Given the description of an element on the screen output the (x, y) to click on. 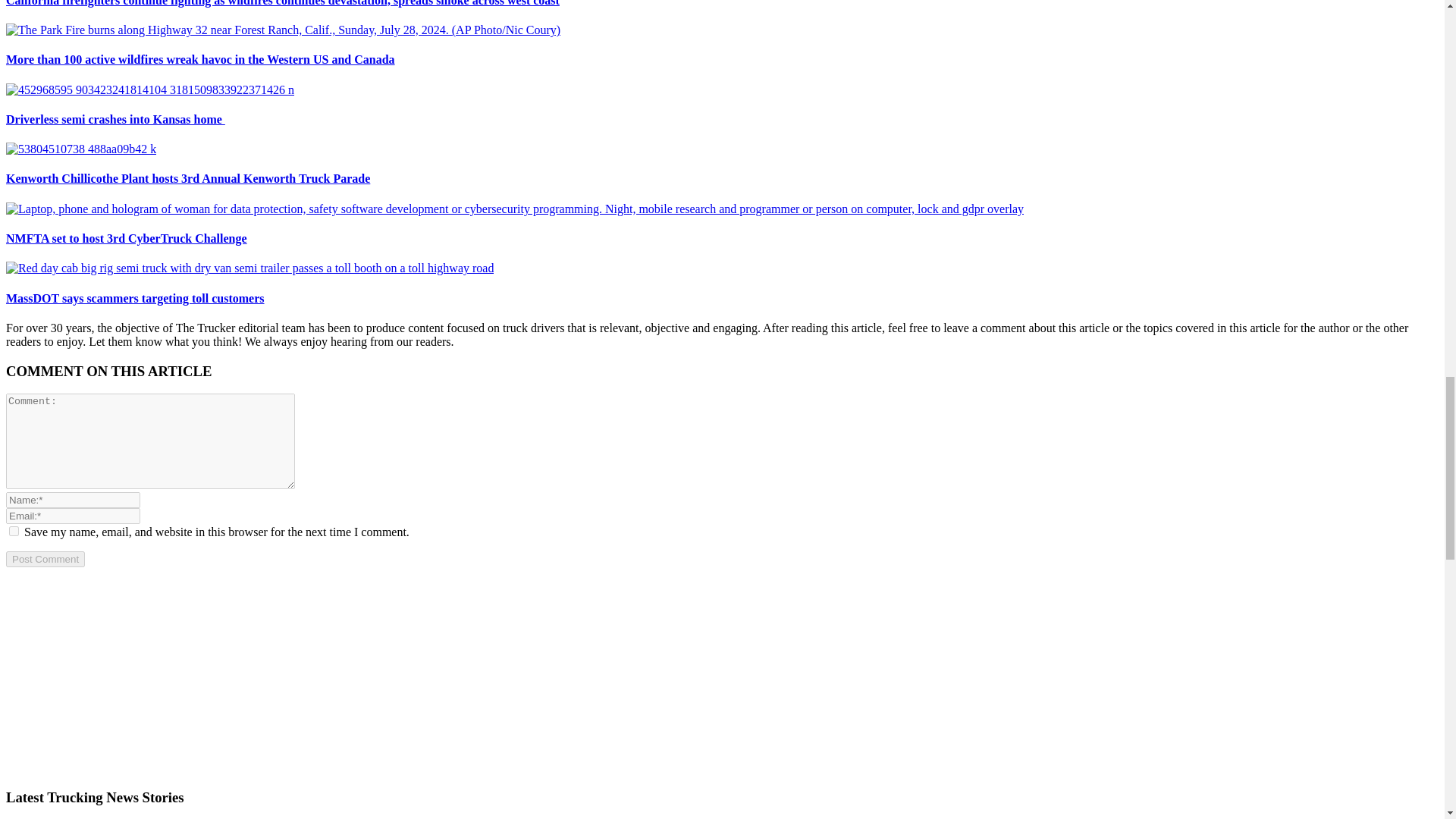
yes (13, 531)
Post Comment (44, 559)
